Given the description of an element on the screen output the (x, y) to click on. 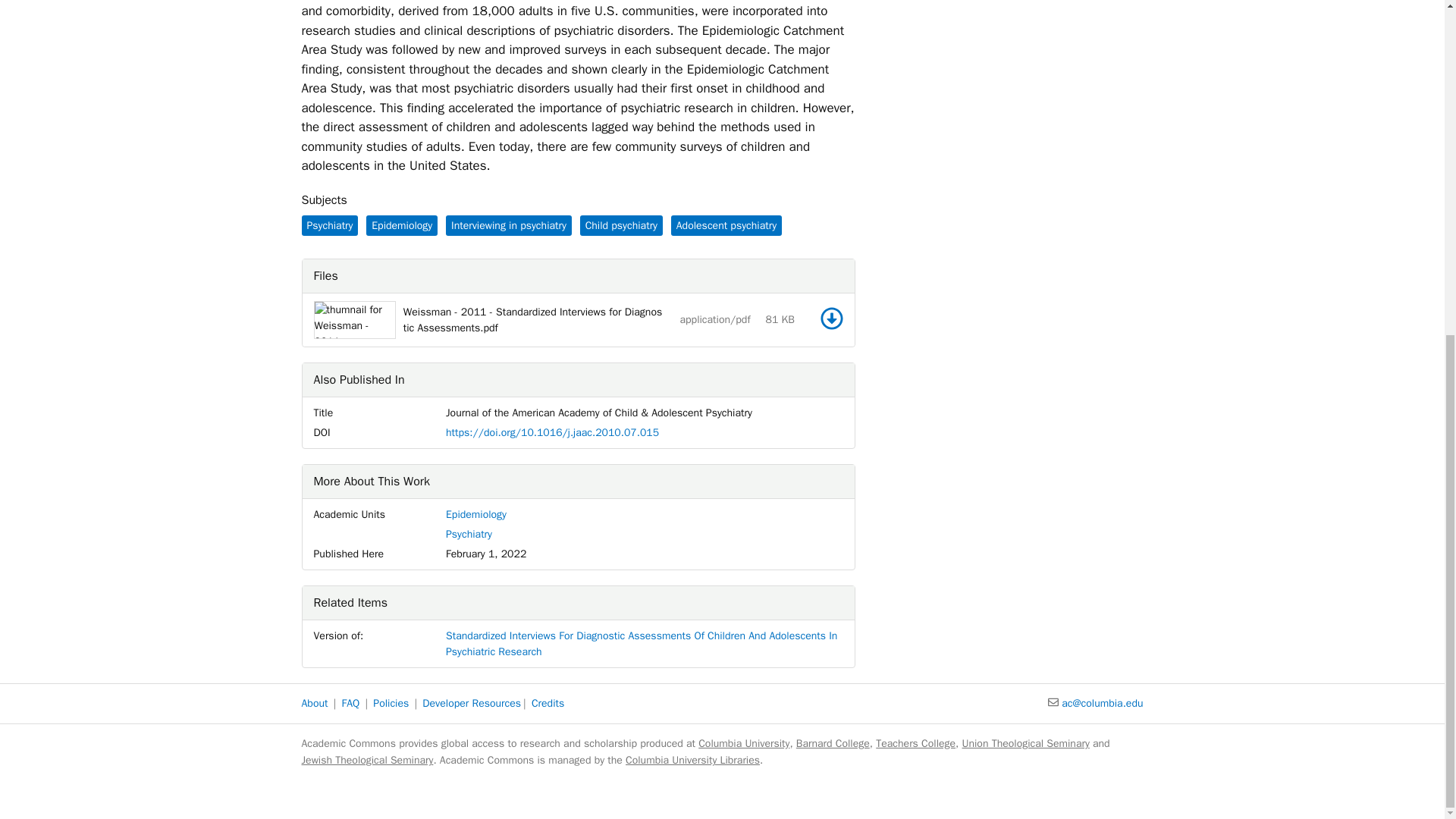
Barnard College (832, 743)
FAQ (349, 703)
Psychiatry (468, 533)
Child psychiatry (620, 225)
Developer Resources (471, 703)
Adolescent psychiatry (726, 225)
Download file (832, 318)
Policies (390, 703)
Union Theological Seminary (1024, 743)
Teachers College (915, 743)
